Given the description of an element on the screen output the (x, y) to click on. 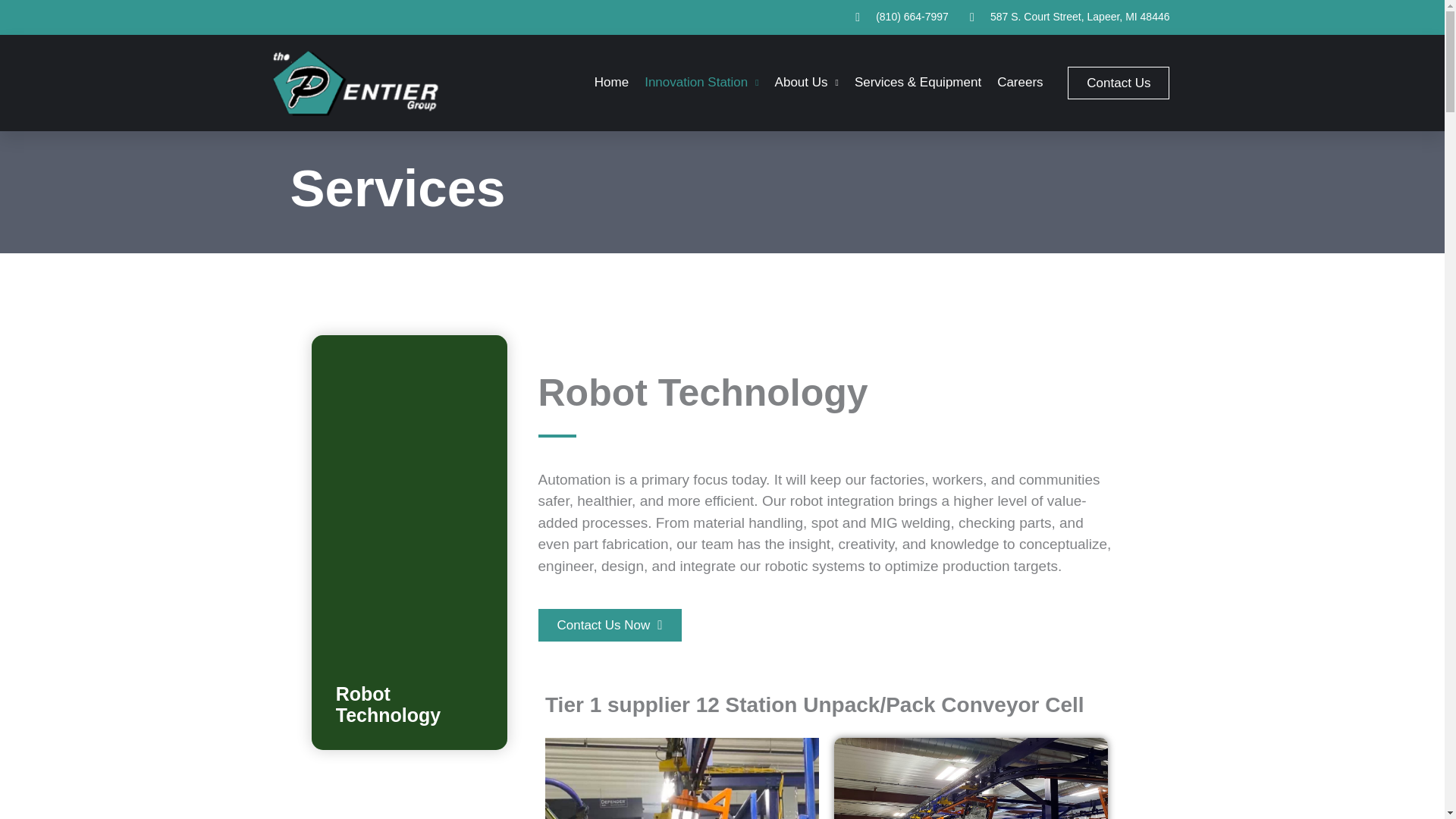
Contact Us (1118, 82)
587 S. Court Street, Lapeer, MI 48446 (1066, 17)
Innovation Station (701, 82)
Contact Us Now (609, 625)
About Us (806, 82)
